Given the description of an element on the screen output the (x, y) to click on. 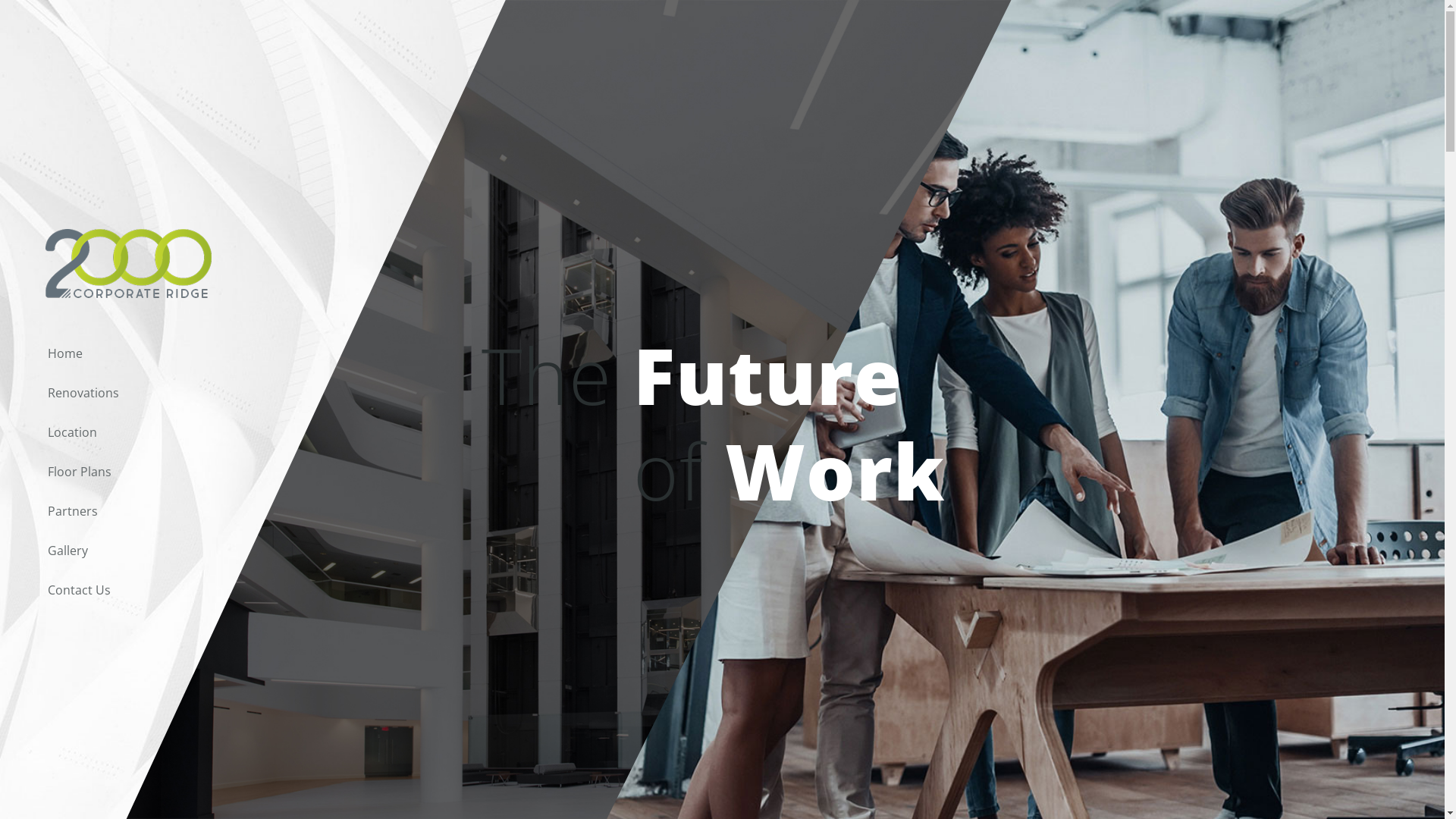
Contact Us Element type: text (240, 589)
Partners Element type: text (240, 510)
Location Element type: text (240, 431)
200cr_logo_1x Element type: hover (128, 263)
Home Element type: text (240, 353)
Gallery Element type: text (240, 550)
Renovations Element type: text (240, 392)
Floor Plans Element type: text (240, 471)
